Given the description of an element on the screen output the (x, y) to click on. 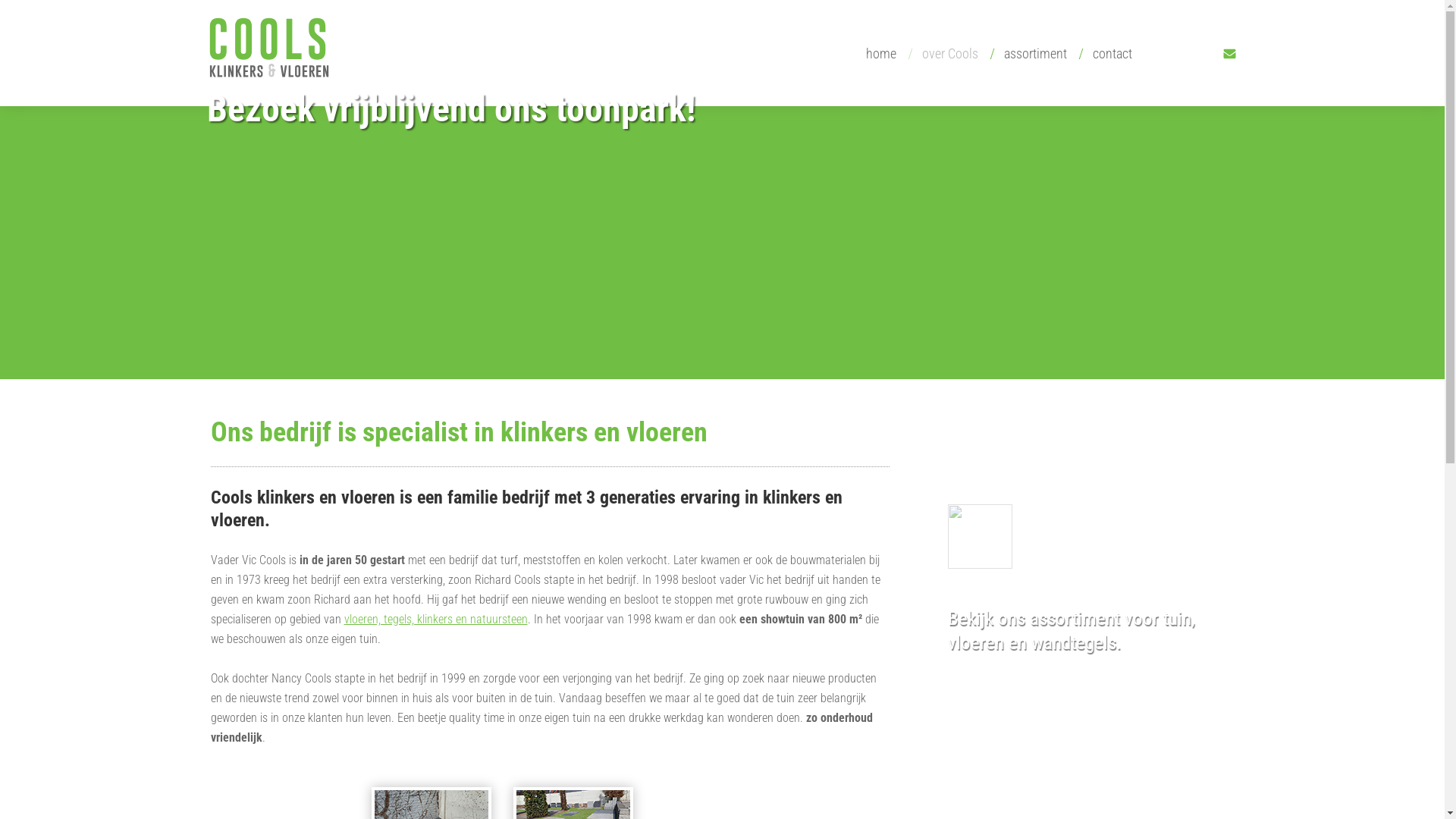
contact Element type: text (1107, 53)
over Cools Element type: text (945, 53)
home Element type: text (876, 53)
vloeren, tegels, klinkers en natuursteen Element type: text (435, 618)
assortiment Element type: text (1031, 53)
